Given the description of an element on the screen output the (x, y) to click on. 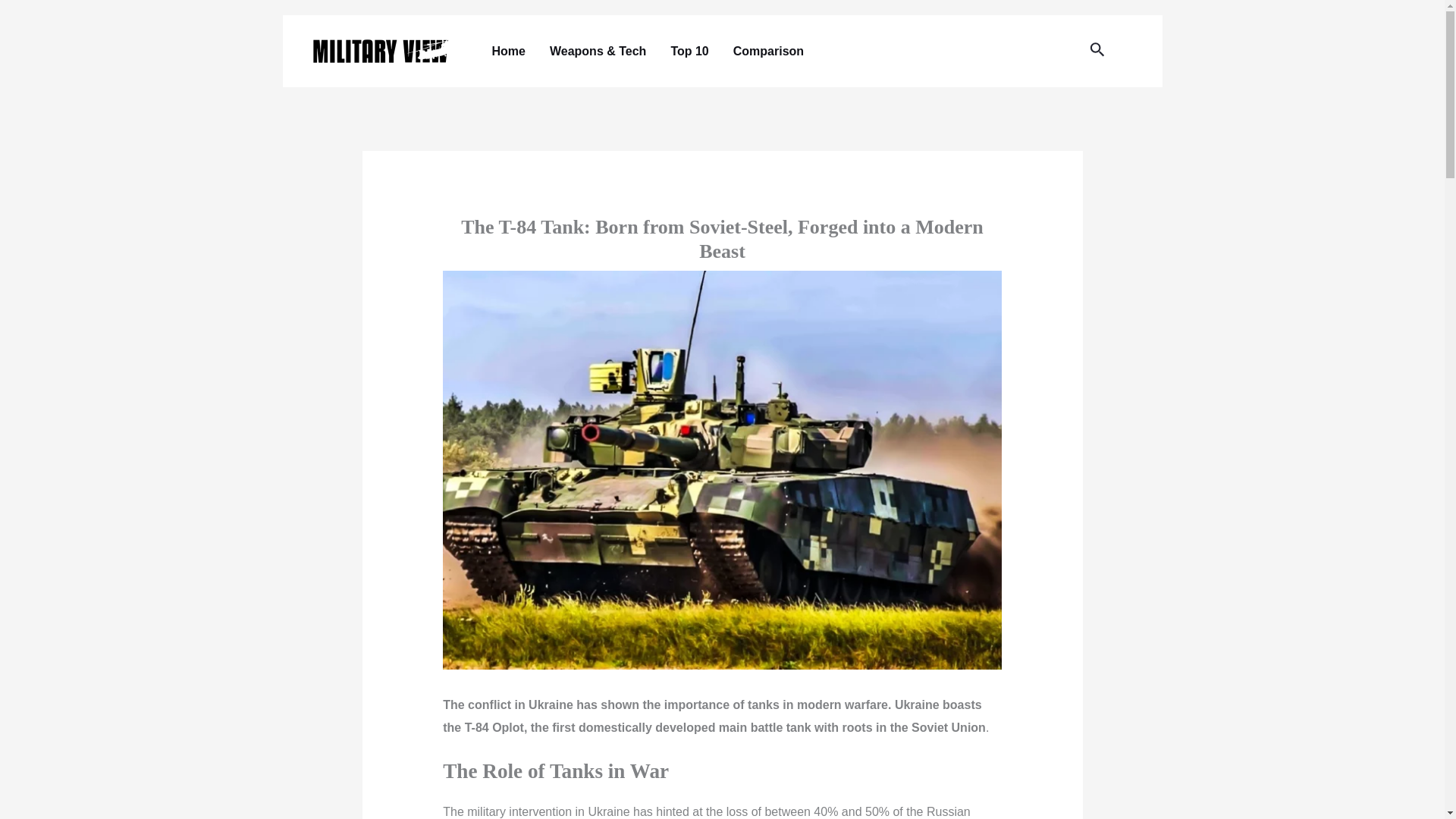
Home (508, 51)
Top 10 (689, 51)
Comparison (767, 51)
